Given the description of an element on the screen output the (x, y) to click on. 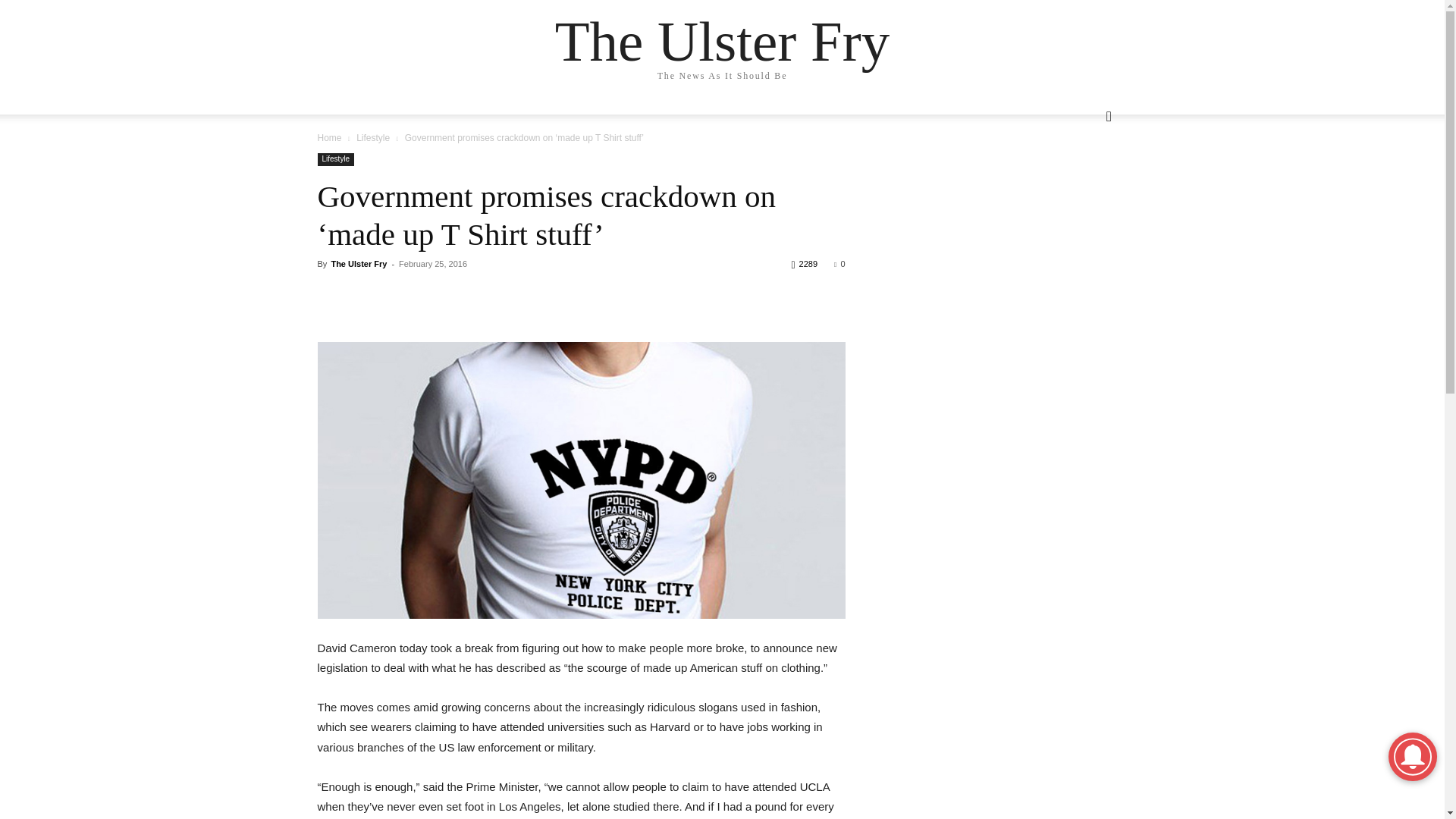
Home (328, 137)
The Ulster Fry (358, 263)
0 (839, 263)
Lifestyle (335, 159)
Search (1081, 177)
View all posts in Lifestyle (373, 137)
Lifestyle (373, 137)
The Ulster Fry (721, 41)
